Given the description of an element on the screen output the (x, y) to click on. 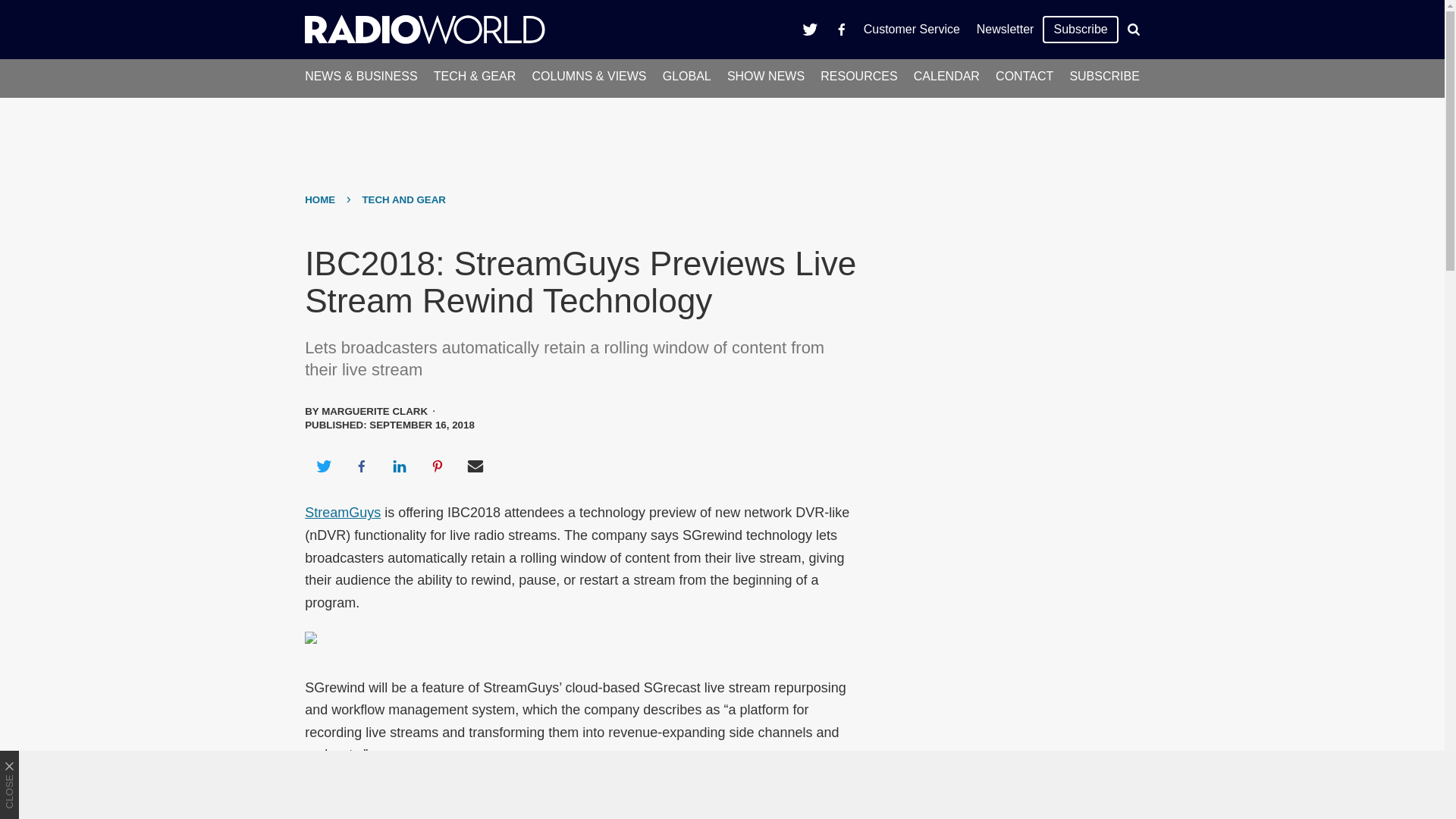
Share on Facebook (361, 466)
Share on LinkedIn (399, 466)
Share on Pinterest (438, 466)
Share via Email (476, 466)
Share on Twitter (323, 466)
Customer Service (912, 29)
